Given the description of an element on the screen output the (x, y) to click on. 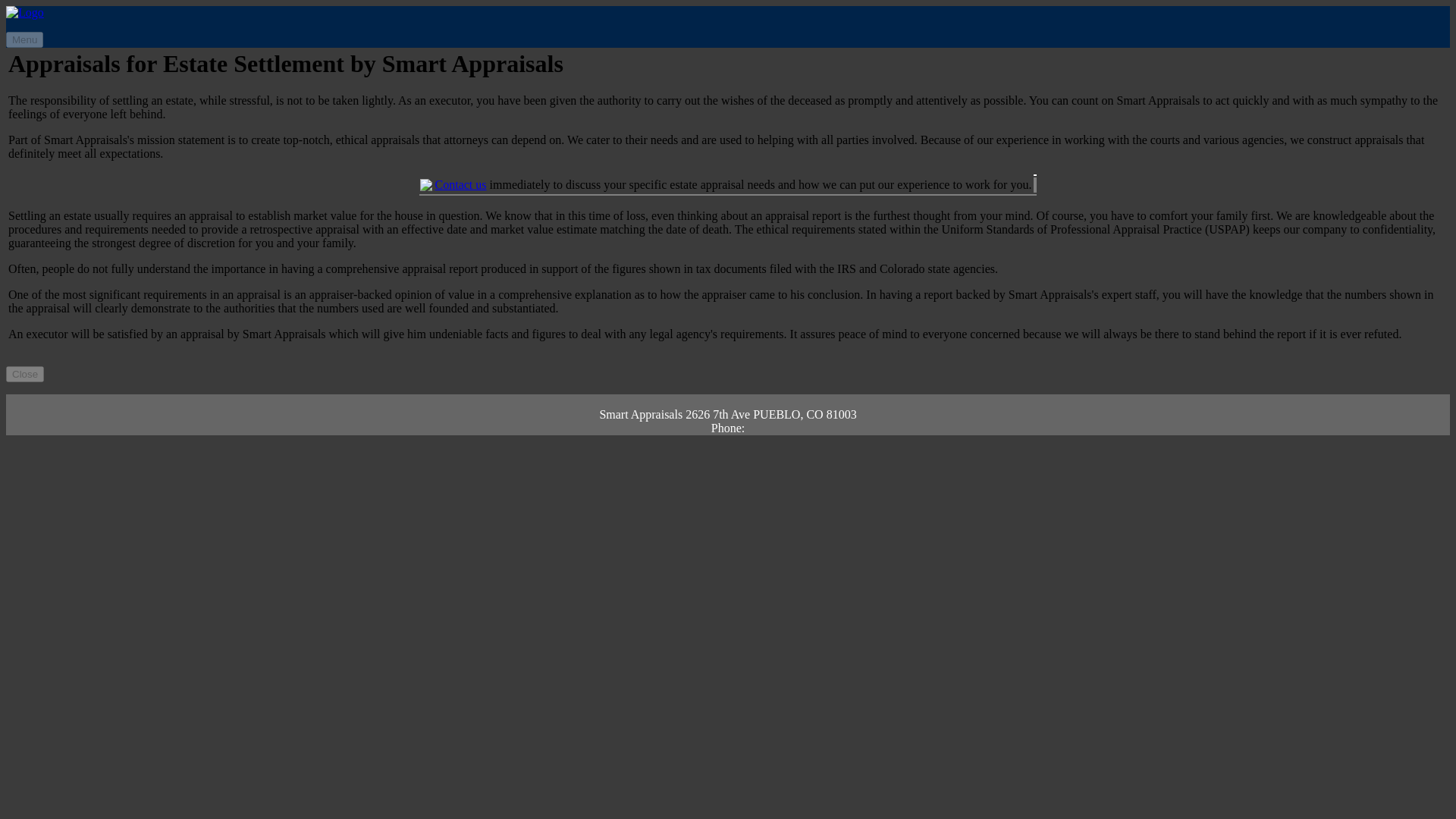
Menu (24, 39)
Contact us (460, 184)
Close (24, 374)
